Given the description of an element on the screen output the (x, y) to click on. 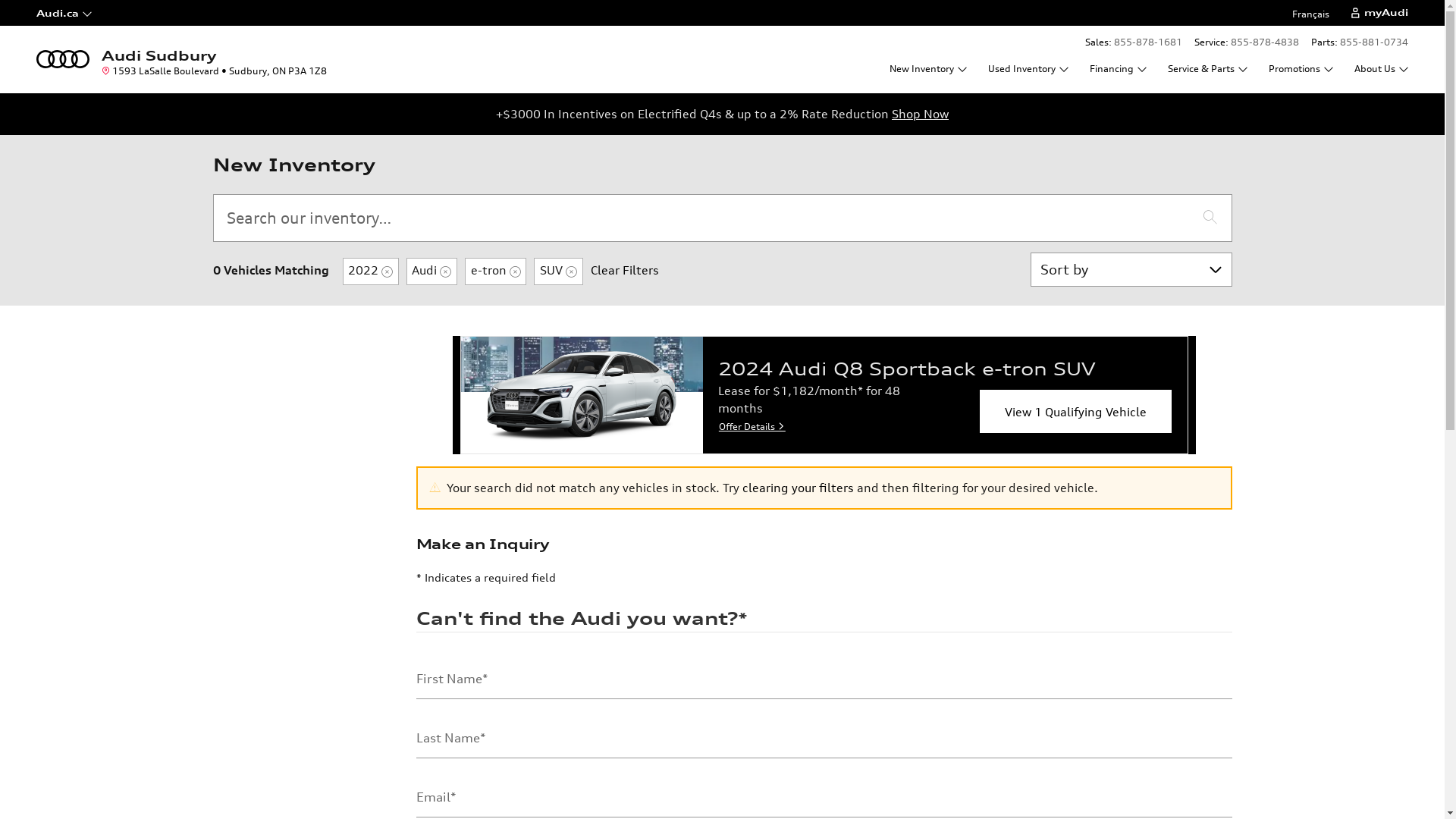
About Us Element type: text (1379, 68)
SUV Element type: text (557, 271)
Audi Element type: text (431, 271)
Search Element type: hover (1210, 217)
Skip to main content Element type: text (0, 0)
New Inventory Element type: text (927, 68)
Audi.ca Element type: text (93, 12)
View 1 Qualifying Vehicle Element type: text (1075, 411)
Clear Filters Element type: text (624, 270)
Offer Details Element type: text (752, 426)
Shop Now Element type: text (919, 113)
e-tron Element type: text (495, 271)
Home Element type: hover (62, 57)
2022 Element type: text (370, 271)
Used Inventory Element type: text (1028, 68)
Service & Parts Element type: text (1207, 68)
1593 LaSalle Boulevard

Sudbury
,
ON
P3A 1Z8 Element type: text (212, 70)
2024 Audi Q8 Sportback e-tron SUV Element type: hover (581, 394)
Financing Element type: text (1117, 68)
clearing your filters Element type: text (797, 487)
myAudi Element type: text (1378, 12)
Promotions Element type: text (1300, 68)
